Given the description of an element on the screen output the (x, y) to click on. 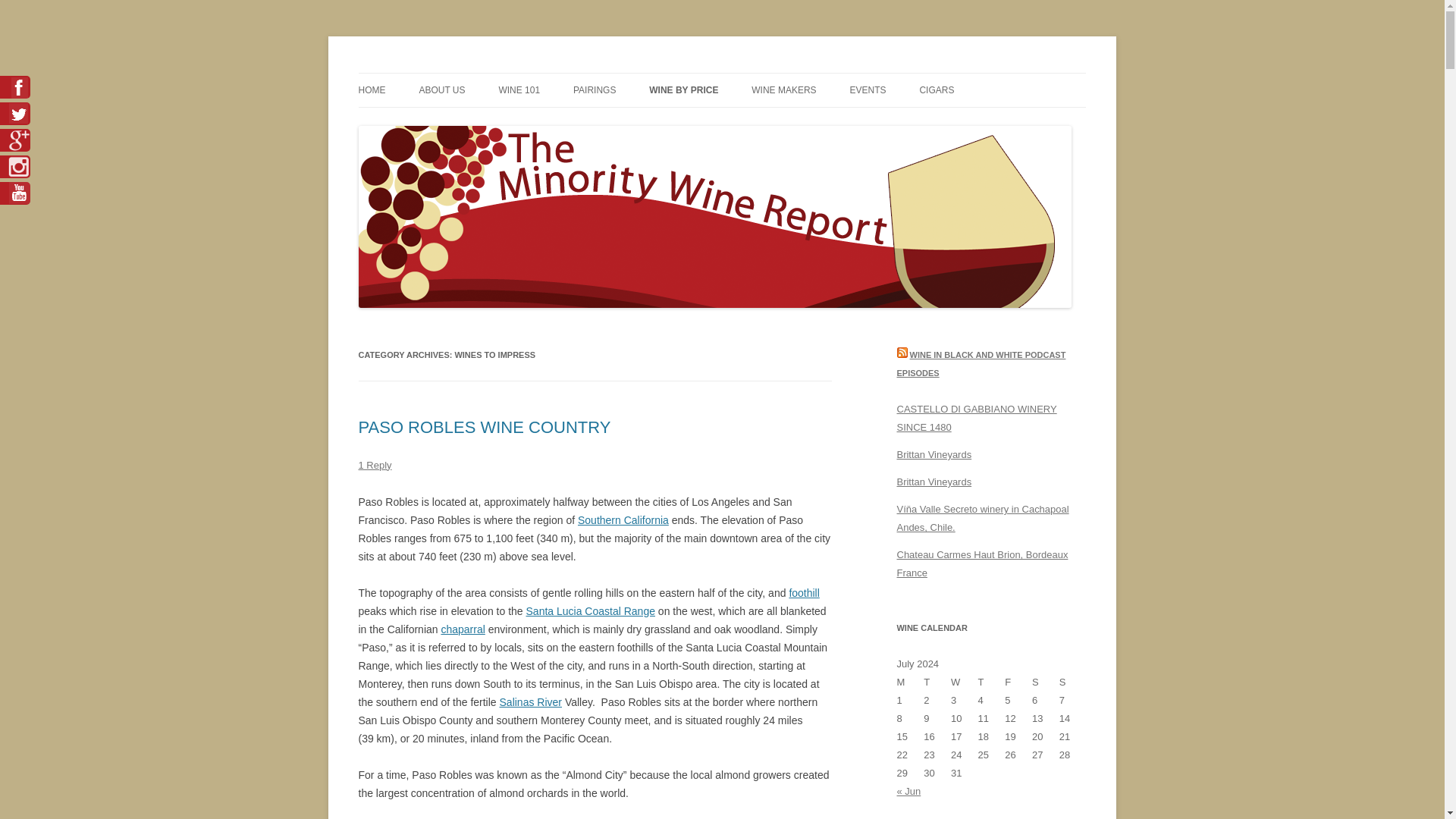
CIGAR POSTS (994, 122)
WINE BY PRICE (683, 90)
The Minority Wine Report (476, 72)
ABOUT US (441, 90)
EVENT POSTS (924, 122)
Foothill (803, 592)
1 Reply (374, 464)
WINE MAKERS (783, 90)
Southern California (623, 520)
Salinas River (530, 702)
Chaparral (462, 629)
THADDEUS (494, 122)
CIGARS (935, 90)
WINE 101 (518, 90)
